Given the description of an element on the screen output the (x, y) to click on. 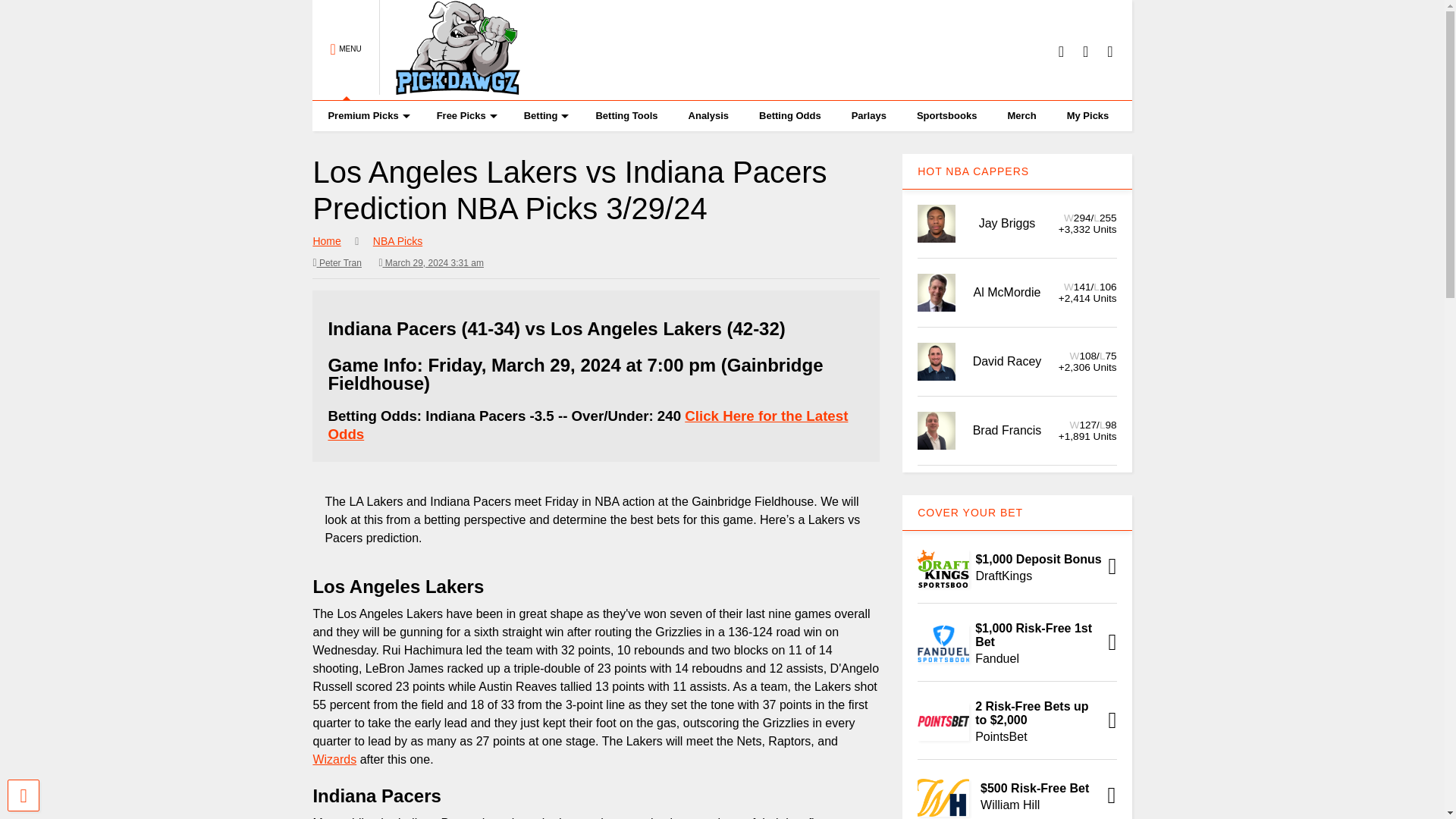
Analysis (708, 115)
Free Picks (465, 115)
Betting (544, 115)
2024-03-29T03:31:00-0400 (430, 263)
MENU (345, 49)
Premium Picks (366, 115)
Peter Tran (337, 263)
Betting Tools (625, 115)
PickDawgz (449, 87)
